Given the description of an element on the screen output the (x, y) to click on. 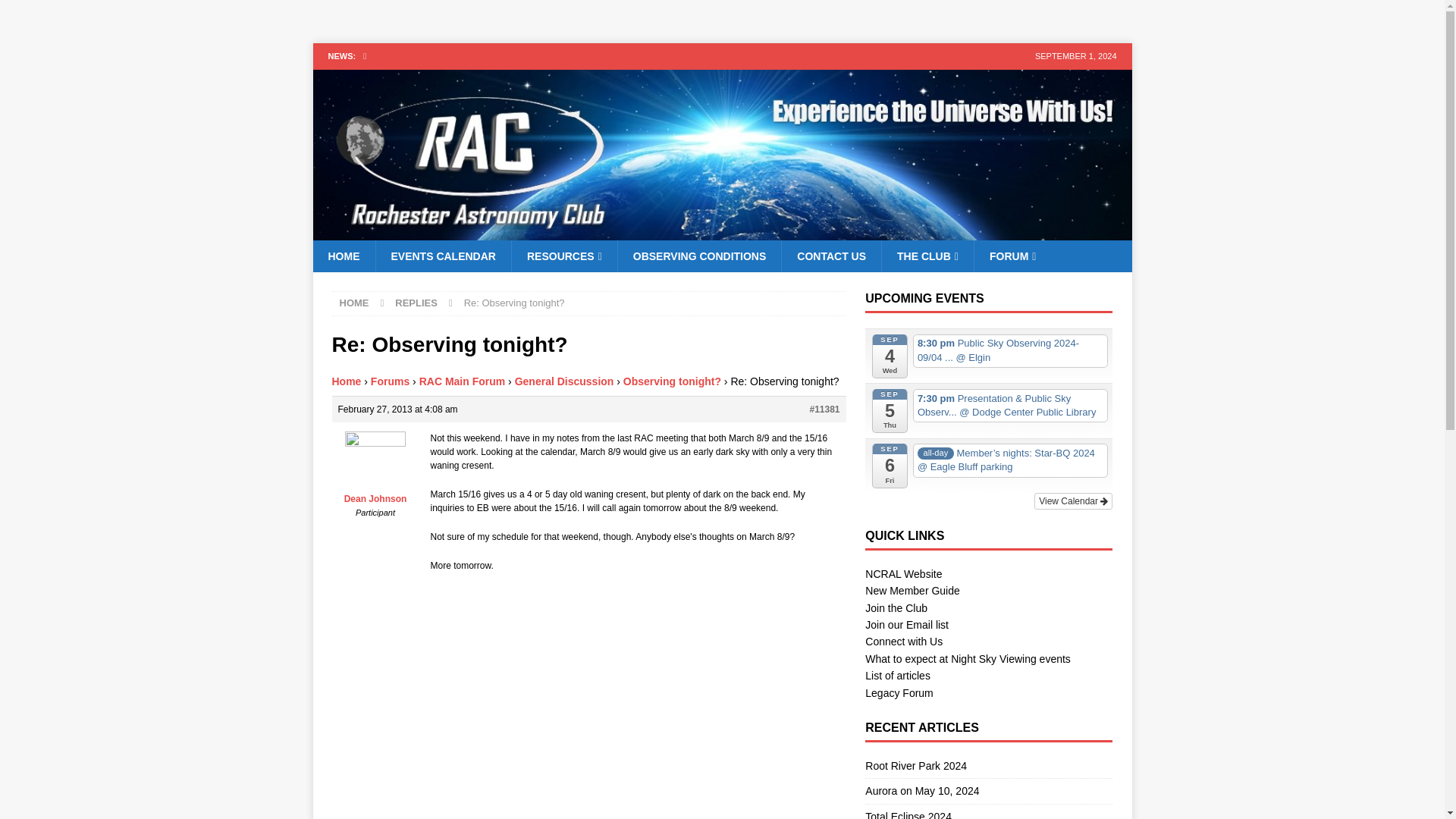
REPLIES (416, 302)
View Dean Johnson's profile (375, 468)
HOME (354, 302)
HOME (343, 255)
North Central Region of the Astronomical League (903, 573)
THE CLUB (927, 255)
General Discussion (564, 381)
FORUM (1012, 255)
Home (346, 381)
List of articles published on this website. (897, 675)
